Given the description of an element on the screen output the (x, y) to click on. 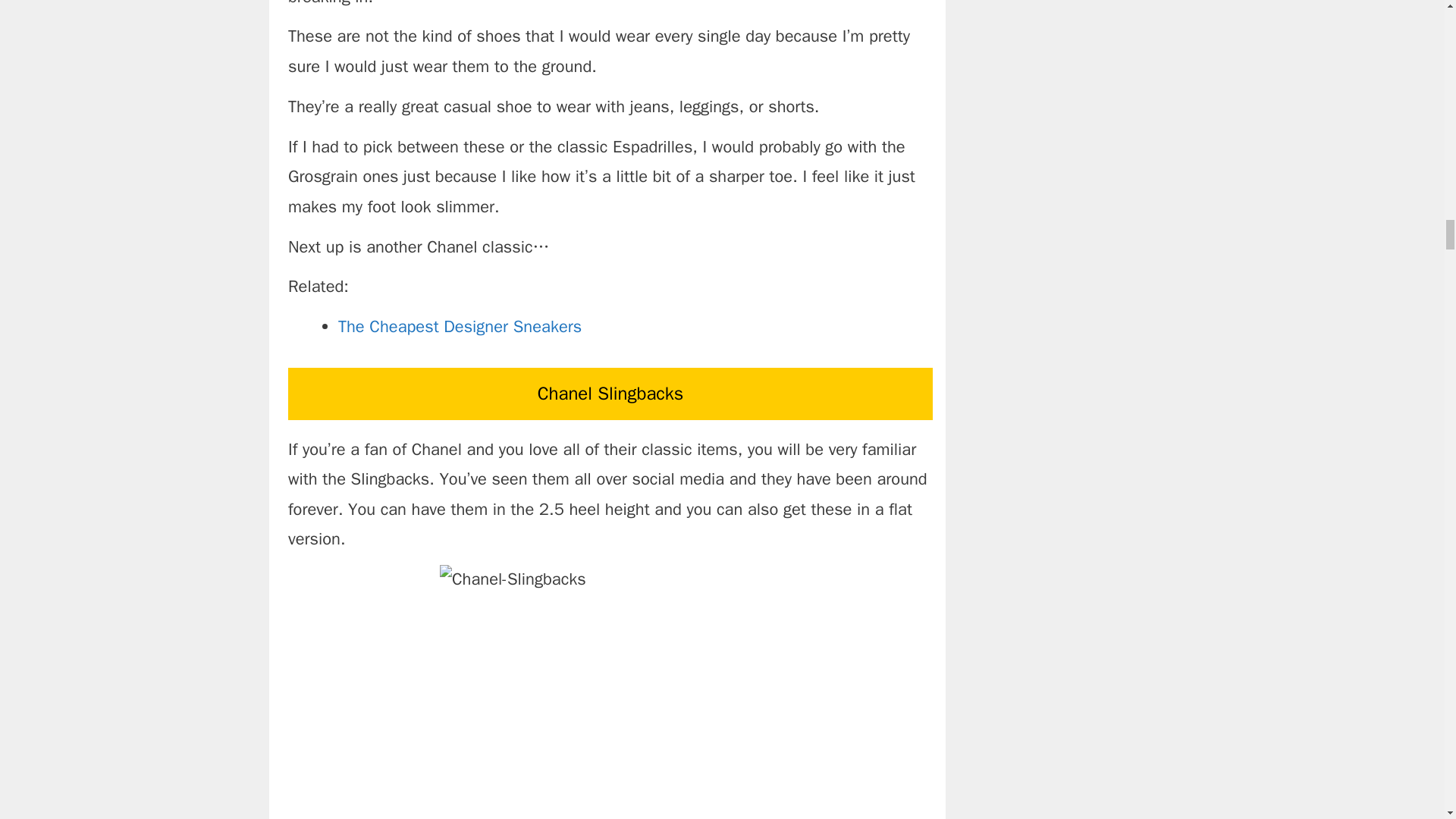
The Cheapest Designer Sneakers (458, 326)
